Given the description of an element on the screen output the (x, y) to click on. 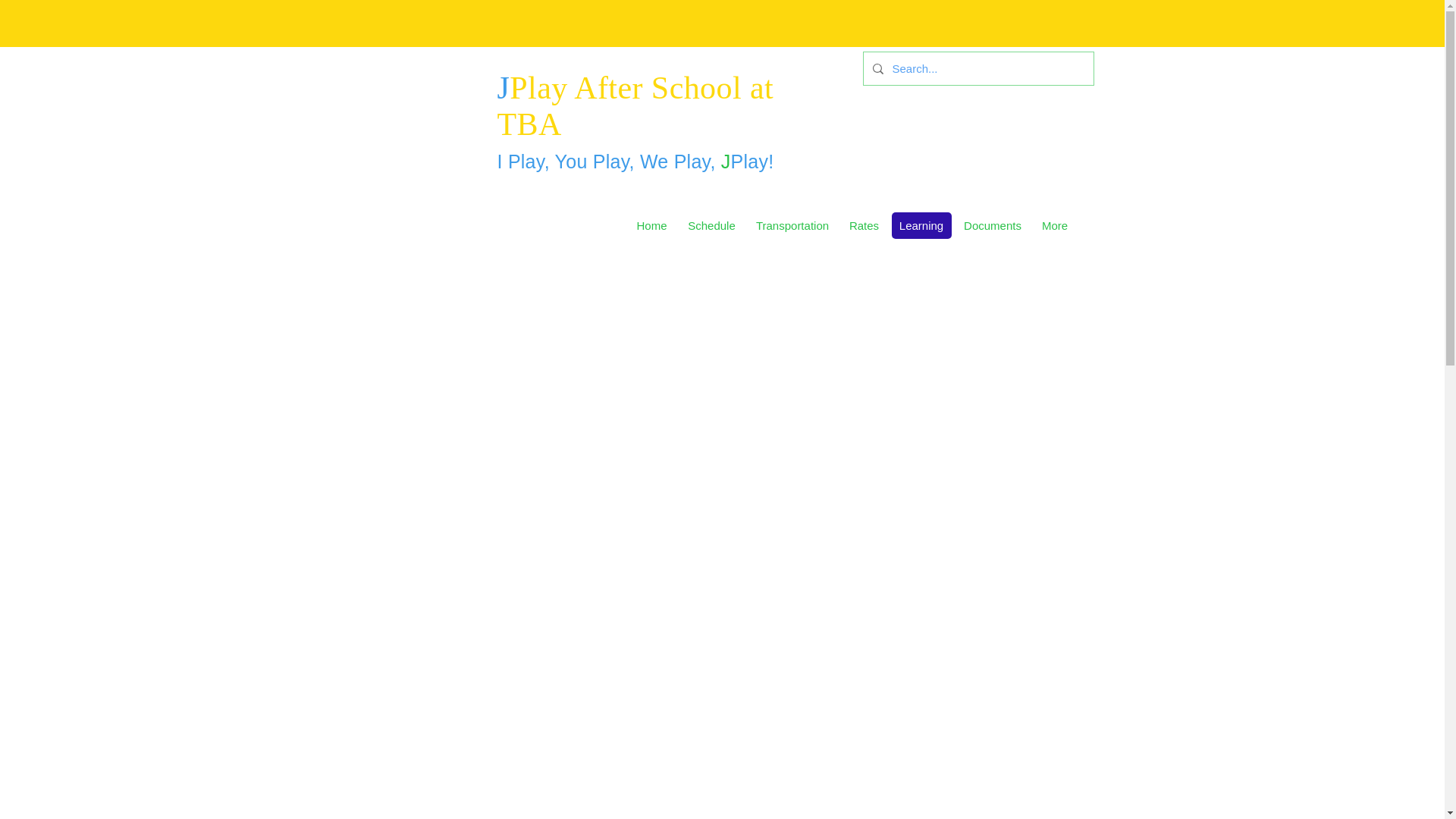
Home (651, 225)
Rates (863, 225)
Learning (921, 225)
Schedule (710, 225)
Transportation (791, 225)
Documents (992, 225)
